Given the description of an element on the screen output the (x, y) to click on. 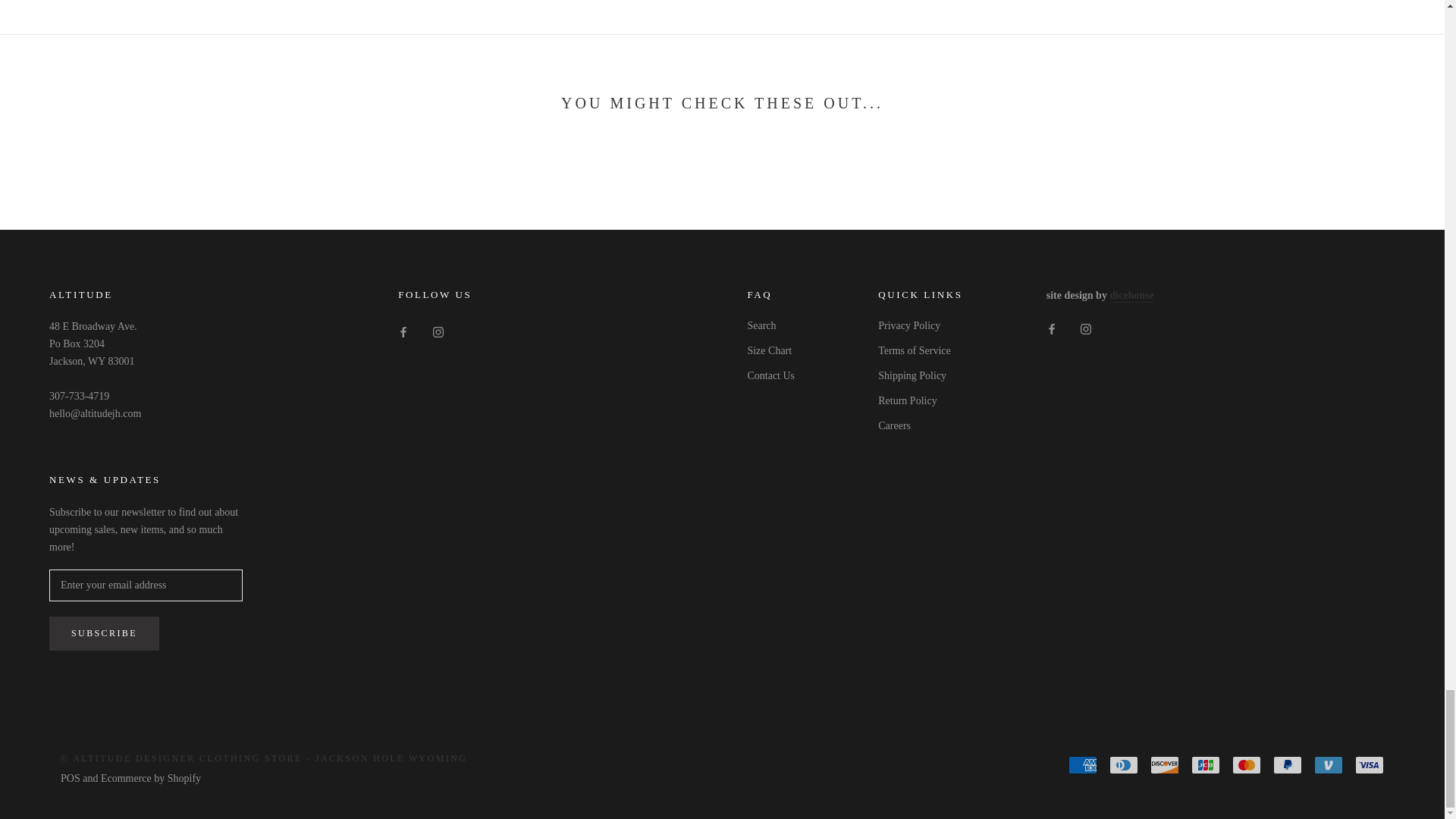
Mastercard (1245, 764)
PayPal (1286, 764)
Discover (1164, 764)
American Express (1082, 764)
Venmo (1328, 764)
JCB (1205, 764)
Diners Club (1123, 764)
